Given the description of an element on the screen output the (x, y) to click on. 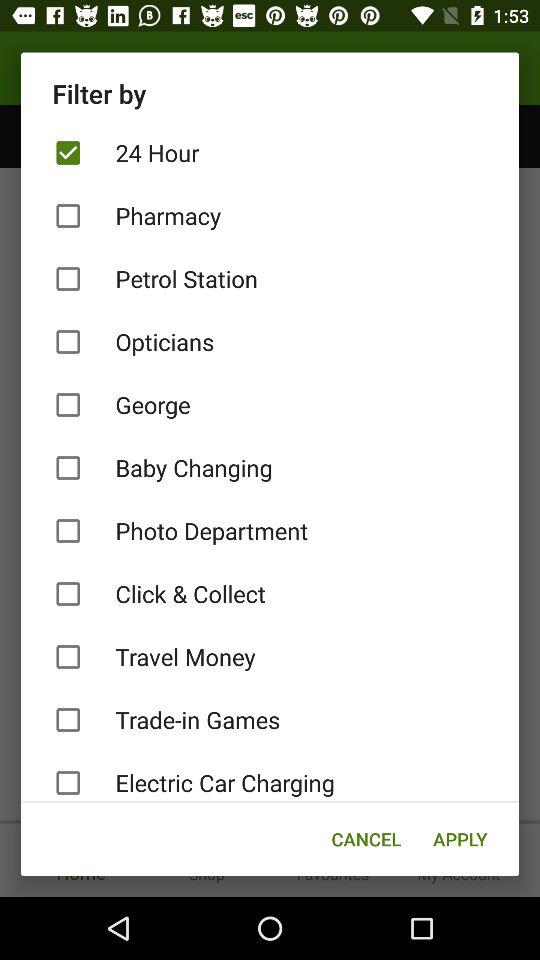
press the item below baby changing item (270, 530)
